Given the description of an element on the screen output the (x, y) to click on. 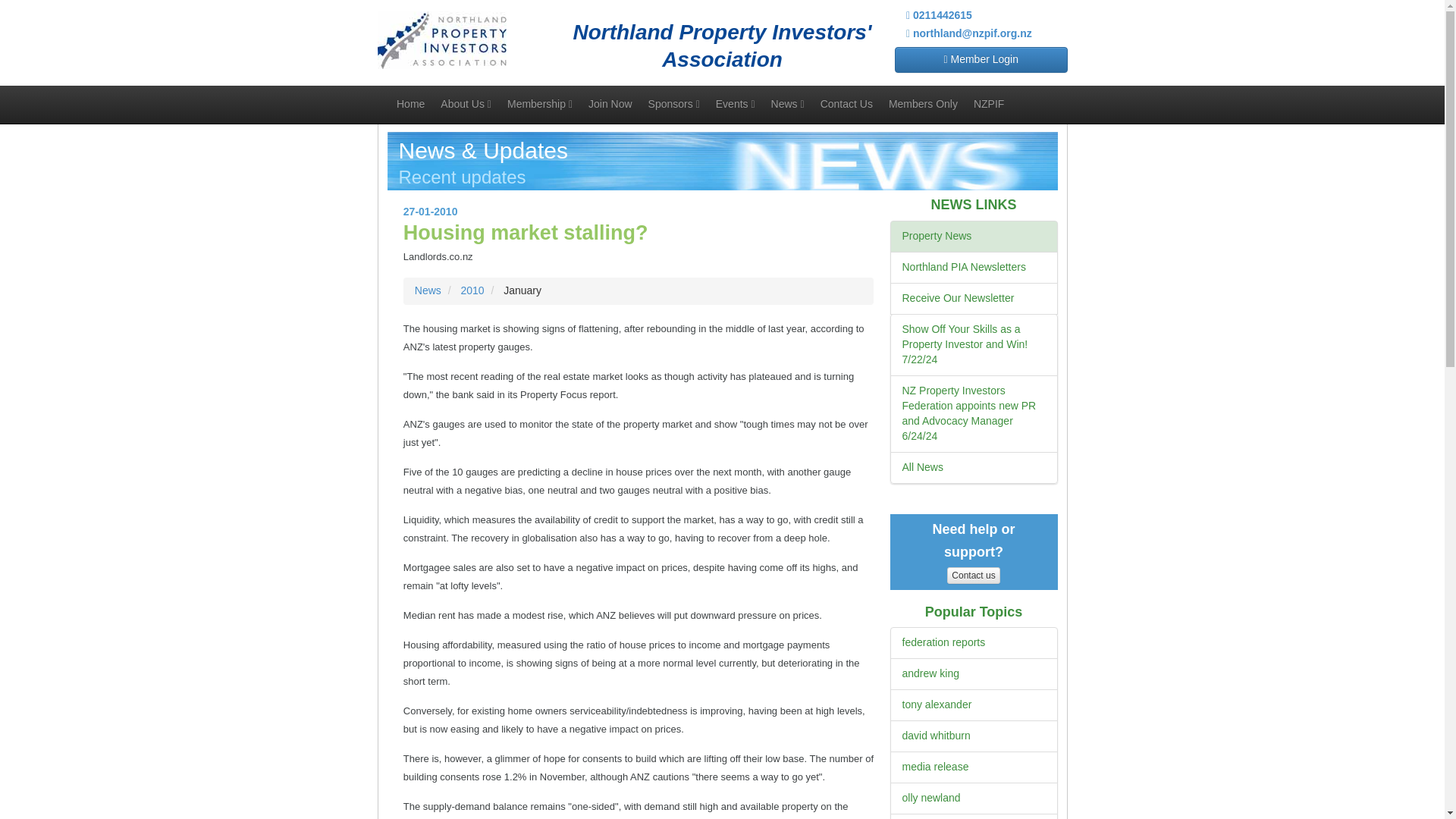
Membership (539, 103)
News (427, 290)
2010 (471, 290)
0211442615 (938, 15)
Member Login (981, 59)
Contact Us (846, 103)
Members Only (922, 103)
Sponsors (673, 103)
All News (922, 467)
Housing market stalling? (525, 232)
Events (734, 103)
About Us (465, 103)
Join Now (610, 103)
News (787, 103)
Home (410, 103)
